Given the description of an element on the screen output the (x, y) to click on. 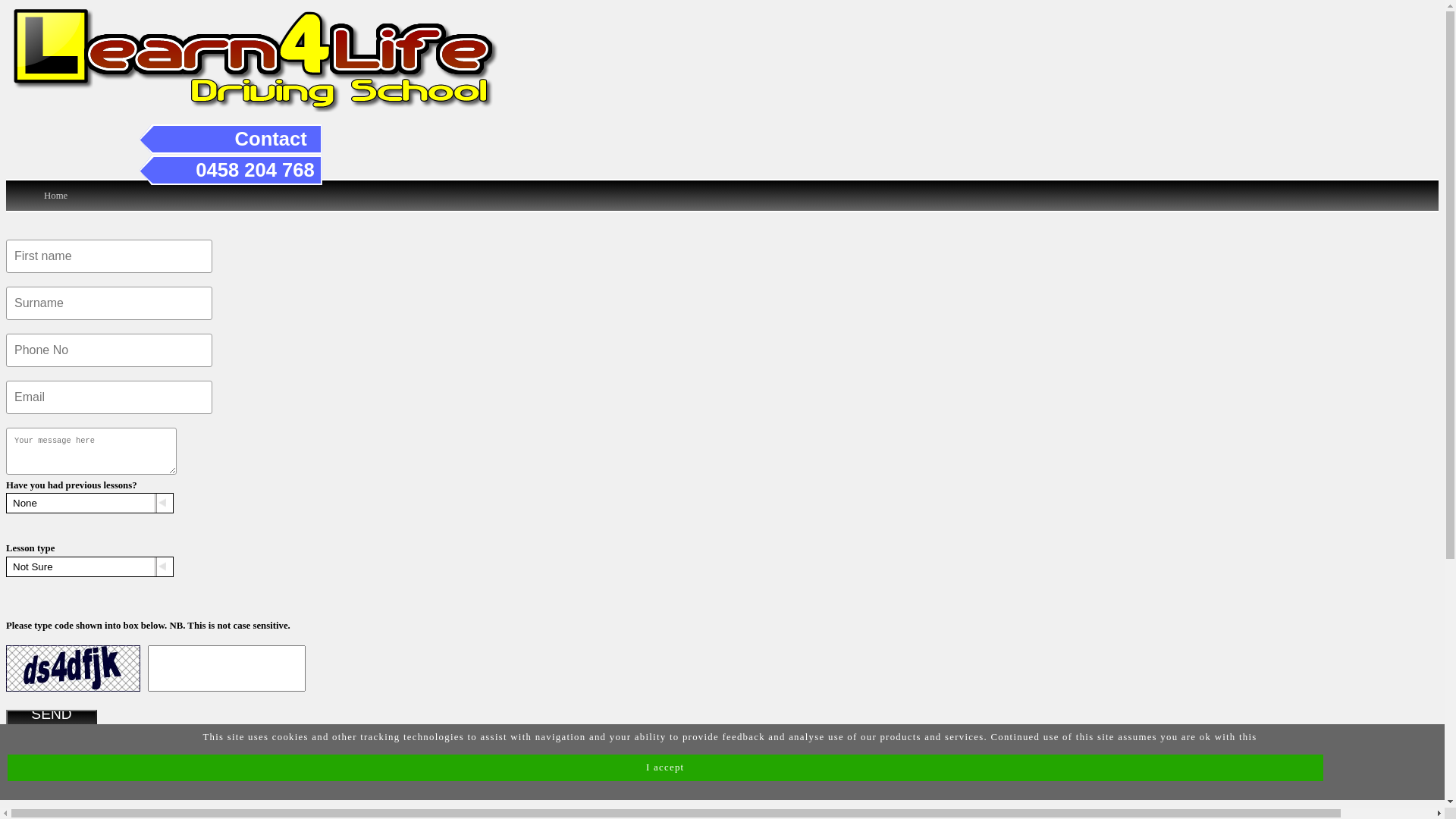
I accept Element type: text (665, 767)
Contact Element type: text (271, 138)
SEND Element type: text (51, 724)
Home Element type: text (55, 195)
